Given the description of an element on the screen output the (x, y) to click on. 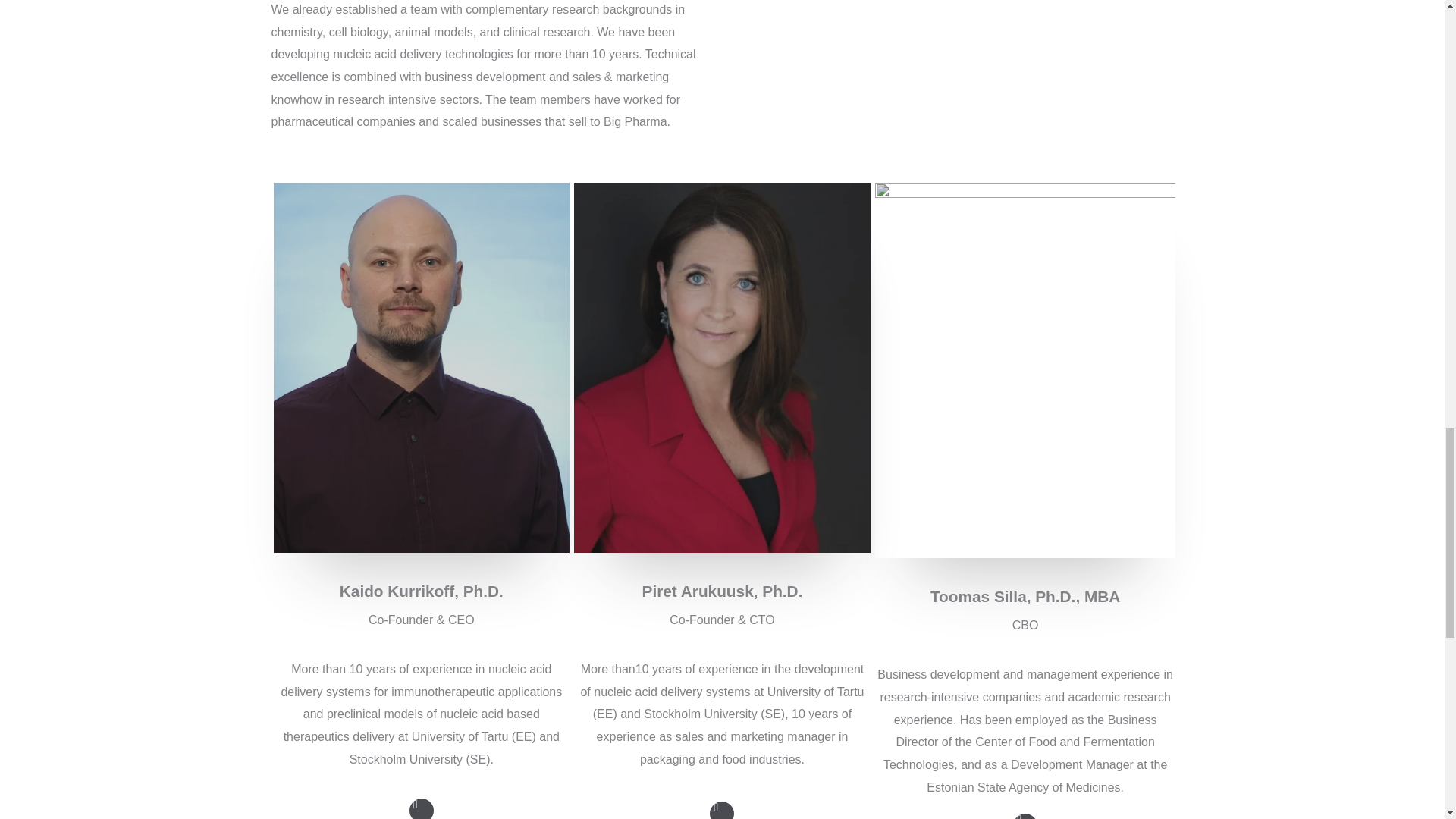
Linkedin (1024, 816)
Linkedin (421, 808)
Linkedin (721, 810)
